Given the description of an element on the screen output the (x, y) to click on. 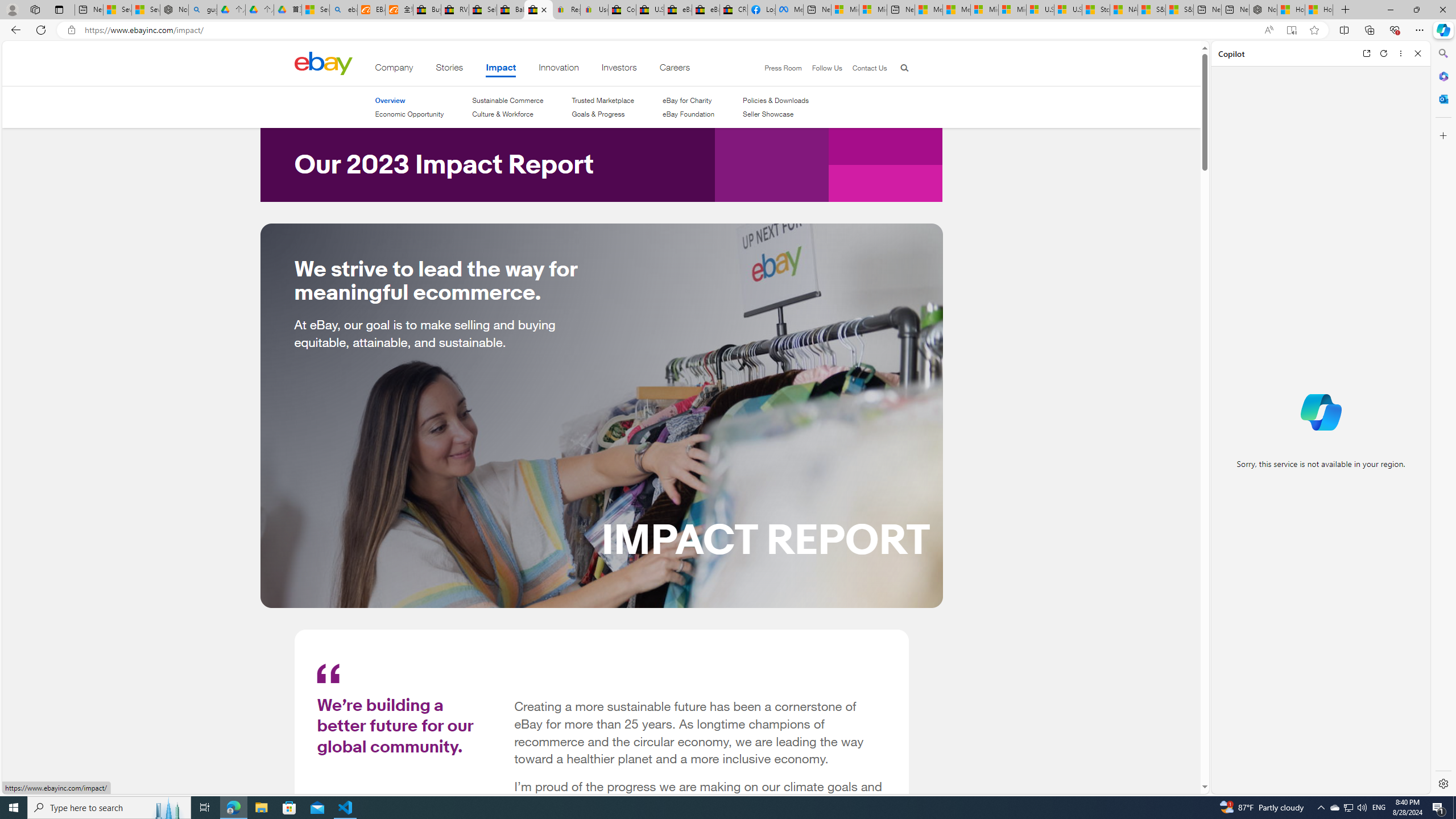
Class: desktop (323, 63)
Side bar (1443, 418)
Goals & Progress (603, 113)
Stories (449, 69)
Investors (619, 69)
Goals & Progress (598, 113)
eBay Inc. Reports Third Quarter 2023 Results (706, 9)
Follow Us (826, 67)
